Given the description of an element on the screen output the (x, y) to click on. 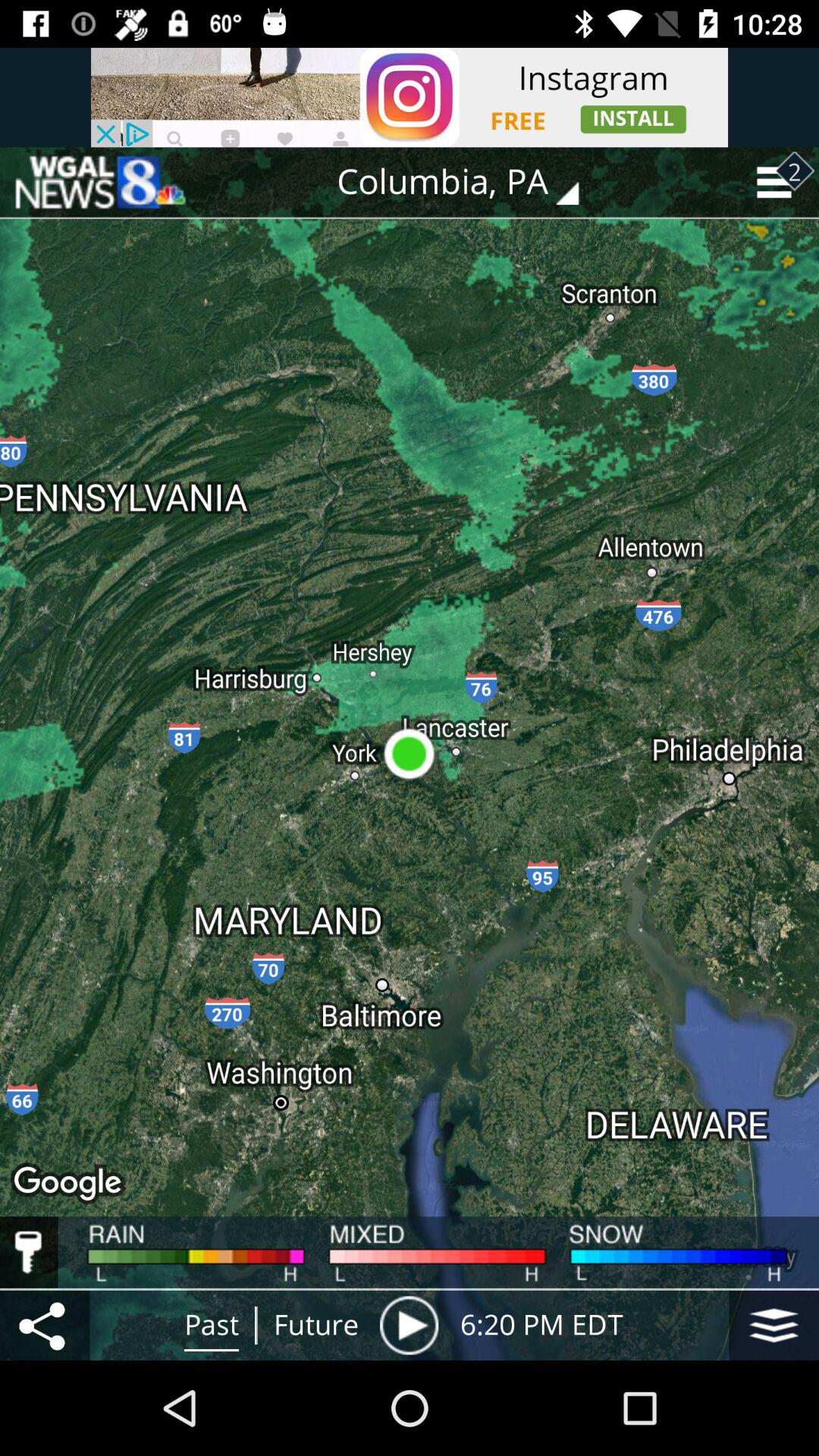
turn on the item to the right of the 6 20 pm item (774, 1325)
